Given the description of an element on the screen output the (x, y) to click on. 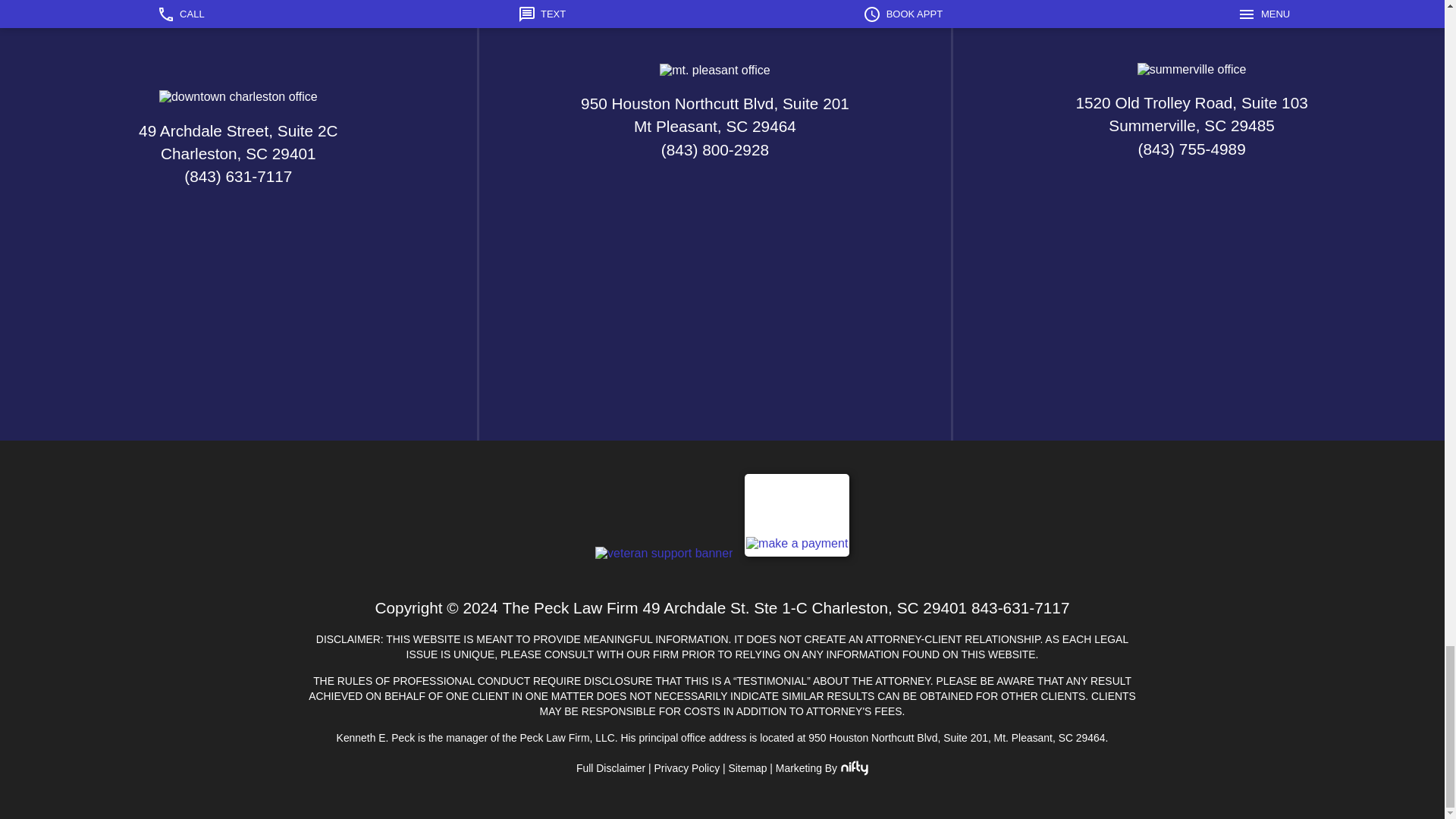
Google map of the Peck Law Firm in Charleston (238, 294)
Full Disclaimer (610, 767)
Google map of the Peck Law Firm in Mt. Pleasant (714, 267)
Privacy Policy (686, 767)
Google map of the Peck Law Firm in Summerville (1191, 266)
Sitemap (747, 767)
